Given the description of an element on the screen output the (x, y) to click on. 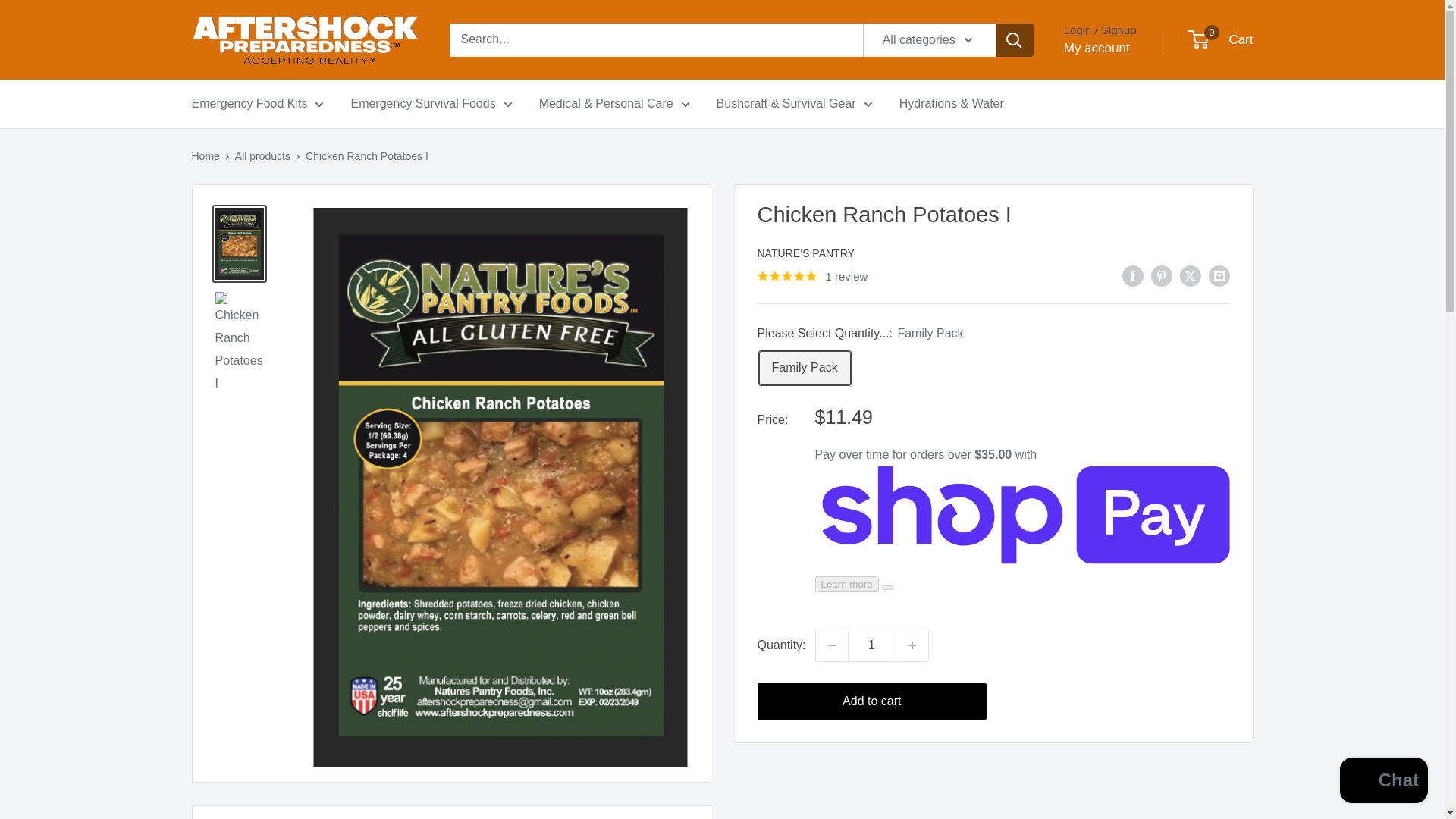
Decrease quantity by 1 (831, 644)
Family Pack (804, 367)
Shopify online store chat (1383, 781)
Increase quantity by 1 (912, 644)
1 (871, 644)
